Given the description of an element on the screen output the (x, y) to click on. 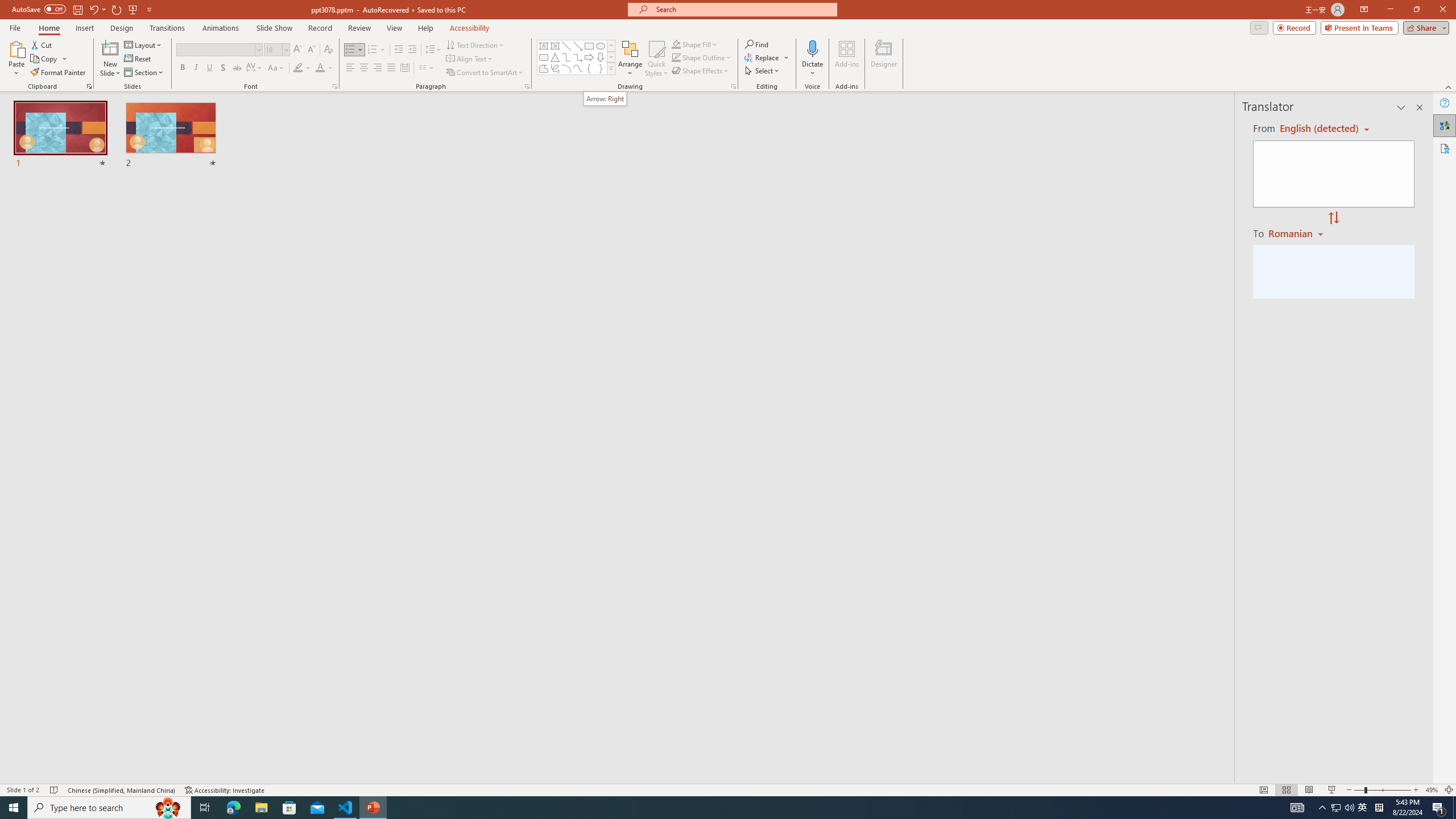
Romanian (1296, 232)
Zoom 49% (1431, 790)
